Given the description of an element on the screen output the (x, y) to click on. 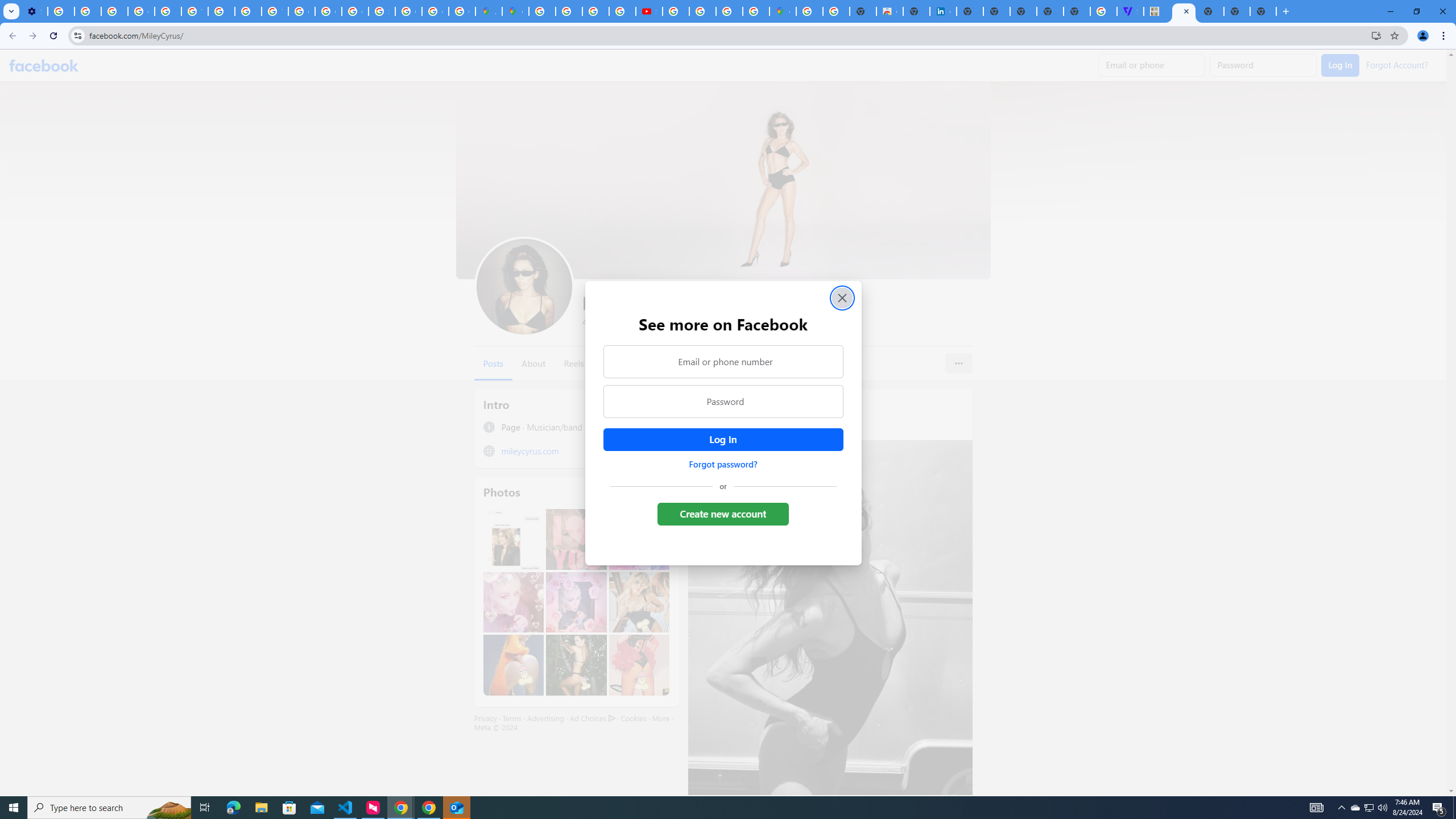
Privacy Help Center - Policies Help (569, 11)
Miley Cyrus | Facebook (1183, 11)
Streaming - The Verge (1130, 11)
New Tab (1210, 11)
https://scholar.google.com/ (221, 11)
Address and search bar (726, 35)
Delete photos & videos - Computer - Google Photos Help (61, 11)
